Given the description of an element on the screen output the (x, y) to click on. 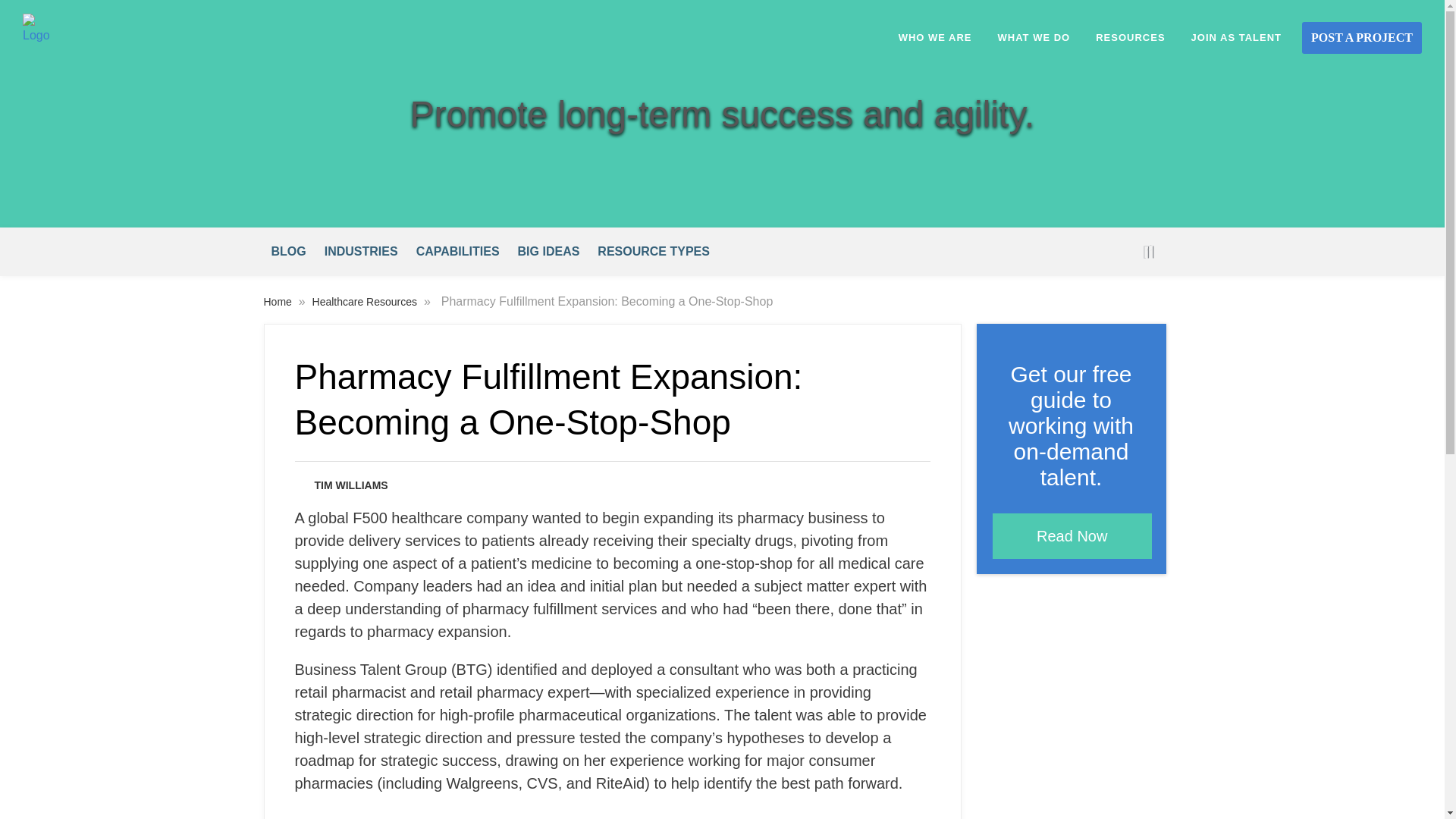
POST A PROJECT (1361, 38)
BLOG (288, 251)
WHAT WE DO (1034, 38)
JOIN AS TALENT (1235, 38)
RESOURCES (1130, 38)
WHO WE ARE (935, 38)
INDUSTRIES (361, 251)
